Given the description of an element on the screen output the (x, y) to click on. 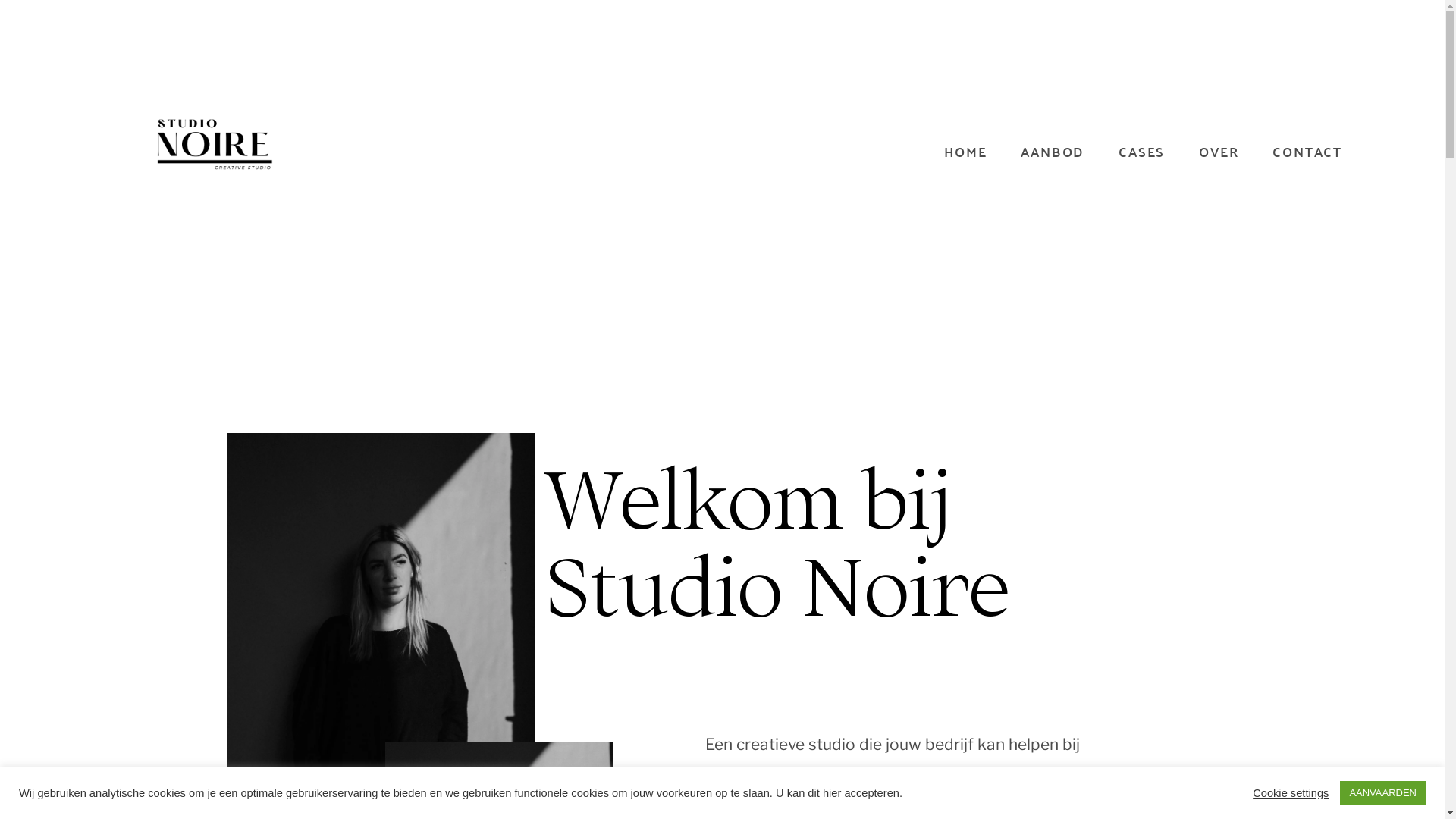
HOME Element type: text (965, 151)
OVER Element type: text (1218, 151)
Cookie settings Element type: text (1290, 792)
CASES Element type: text (1141, 151)
CONTACT Element type: text (1307, 151)
AANVAARDEN Element type: text (1382, 792)
AANBOD Element type: text (1052, 151)
